Given the description of an element on the screen output the (x, y) to click on. 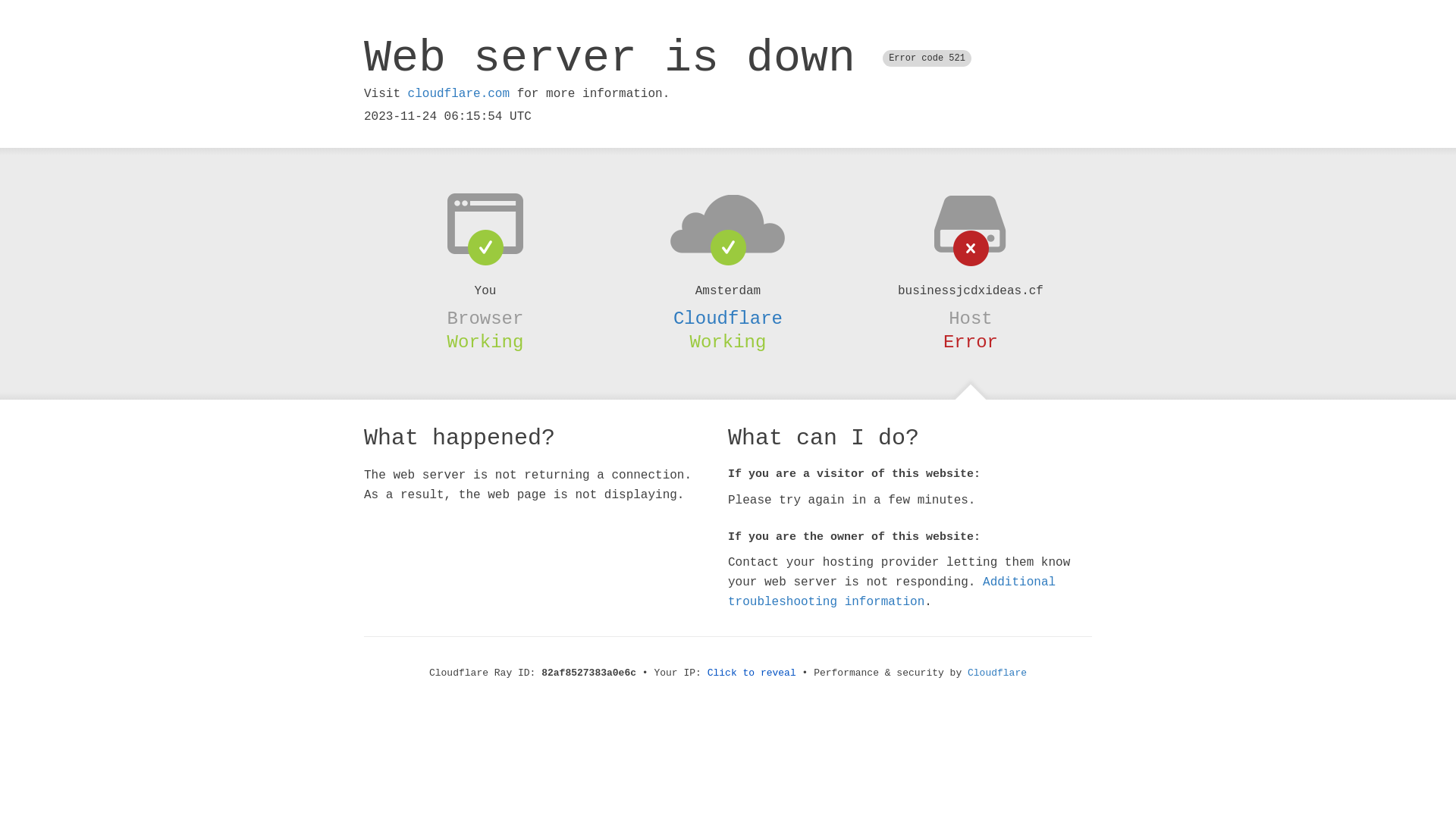
cloudflare.com Element type: text (458, 93)
Cloudflare Element type: text (996, 672)
Cloudflare Element type: text (727, 318)
Additional troubleshooting information Element type: text (891, 591)
Click to reveal Element type: text (751, 672)
